Given the description of an element on the screen output the (x, y) to click on. 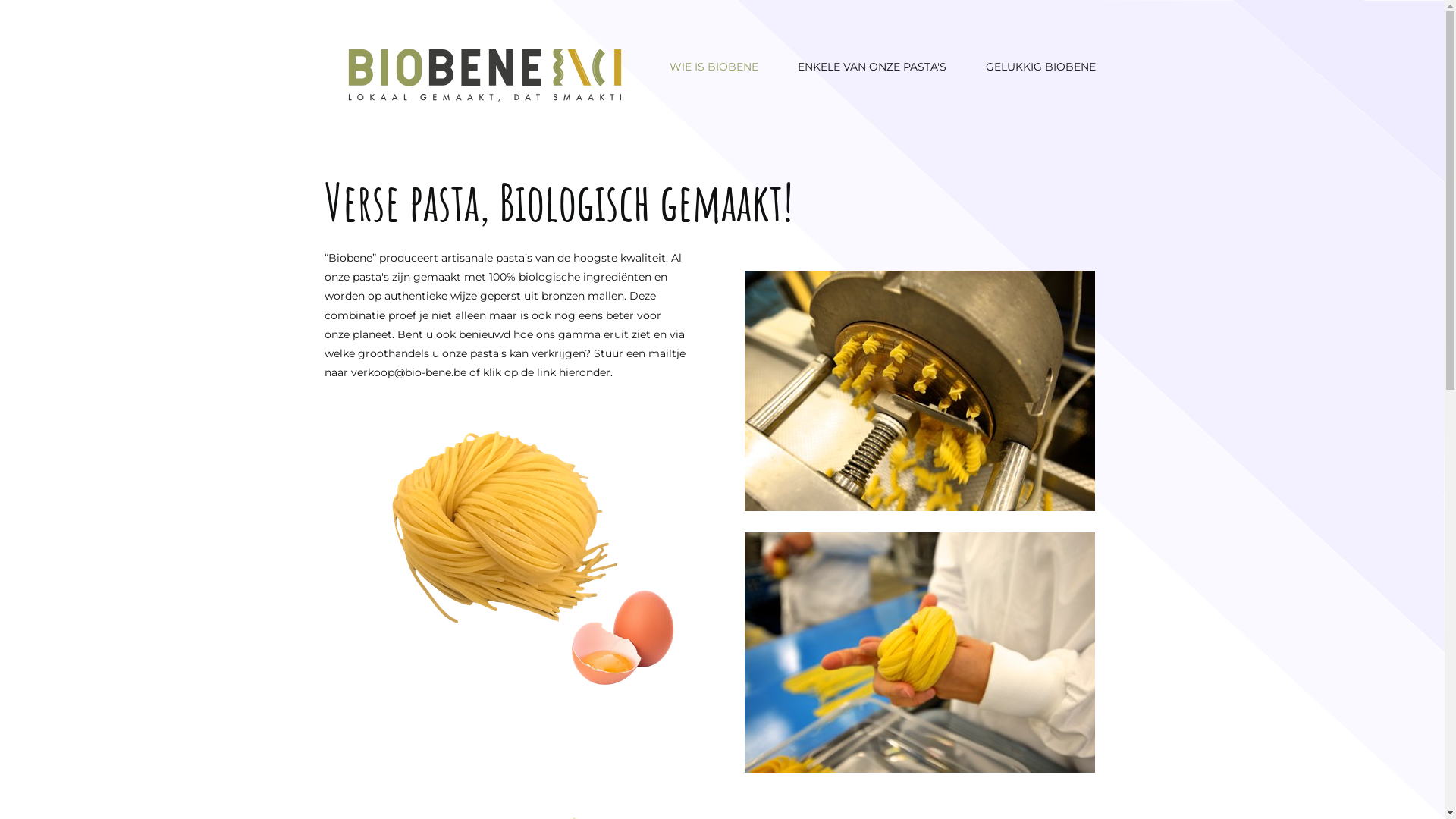
ENKELE VAN ONZE PASTA'S Element type: text (872, 67)
GELUKKIG BIOBENE Element type: text (1040, 67)
WIE IS BIOBENE Element type: text (713, 67)
